Given the description of an element on the screen output the (x, y) to click on. 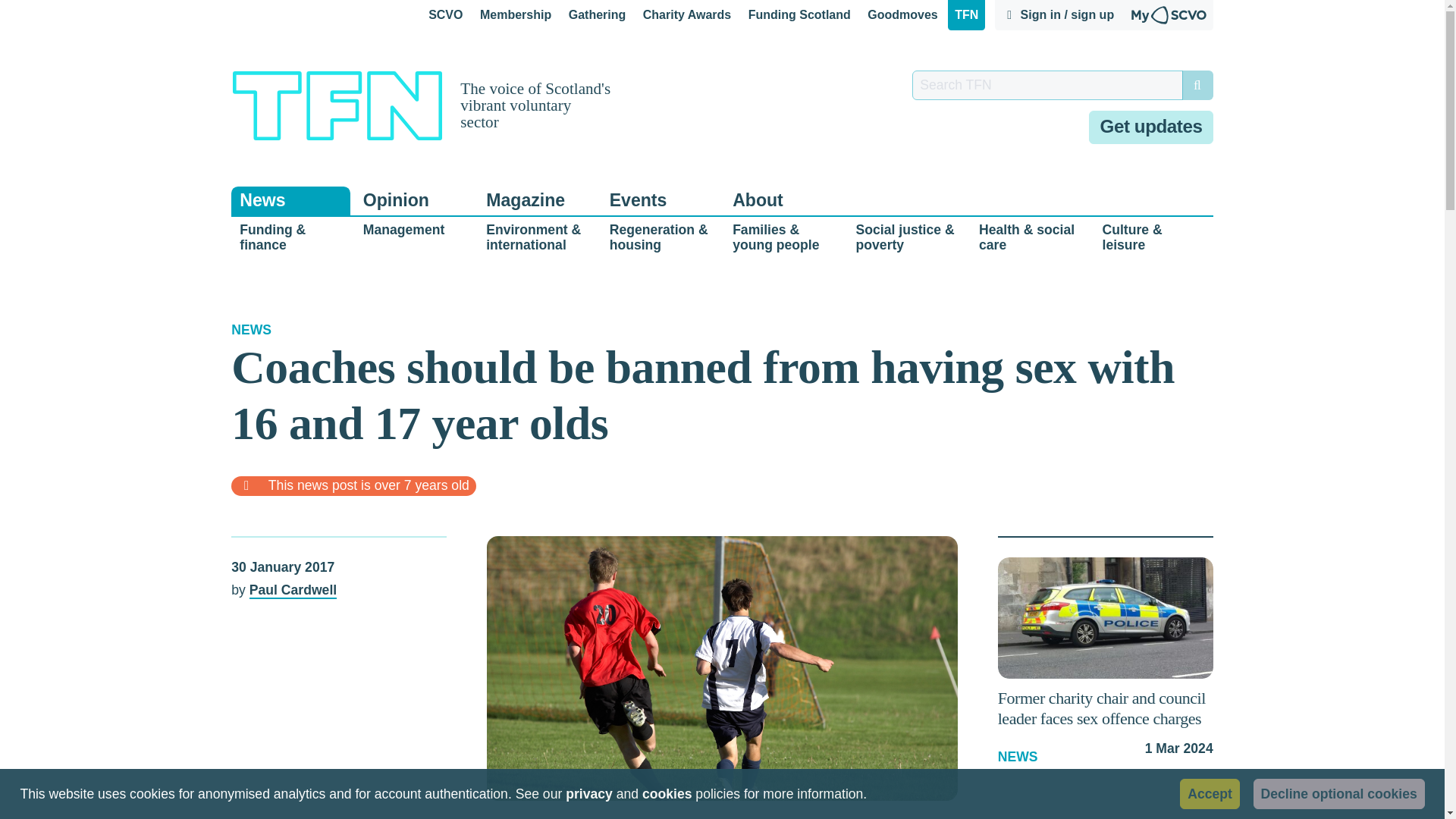
Goodmoves (902, 15)
TFN (966, 15)
Membership (515, 15)
Opinion (414, 200)
privacy (589, 794)
cookies (667, 794)
News (290, 200)
The voice of Scotland's vibrant voluntary sector (421, 105)
Third Force News (966, 15)
Magazine (536, 200)
Gathering (596, 15)
Charity Awards (687, 15)
Decline optional cookies (1339, 793)
Get updates (1150, 127)
Funding Scotland (799, 15)
